Given the description of an element on the screen output the (x, y) to click on. 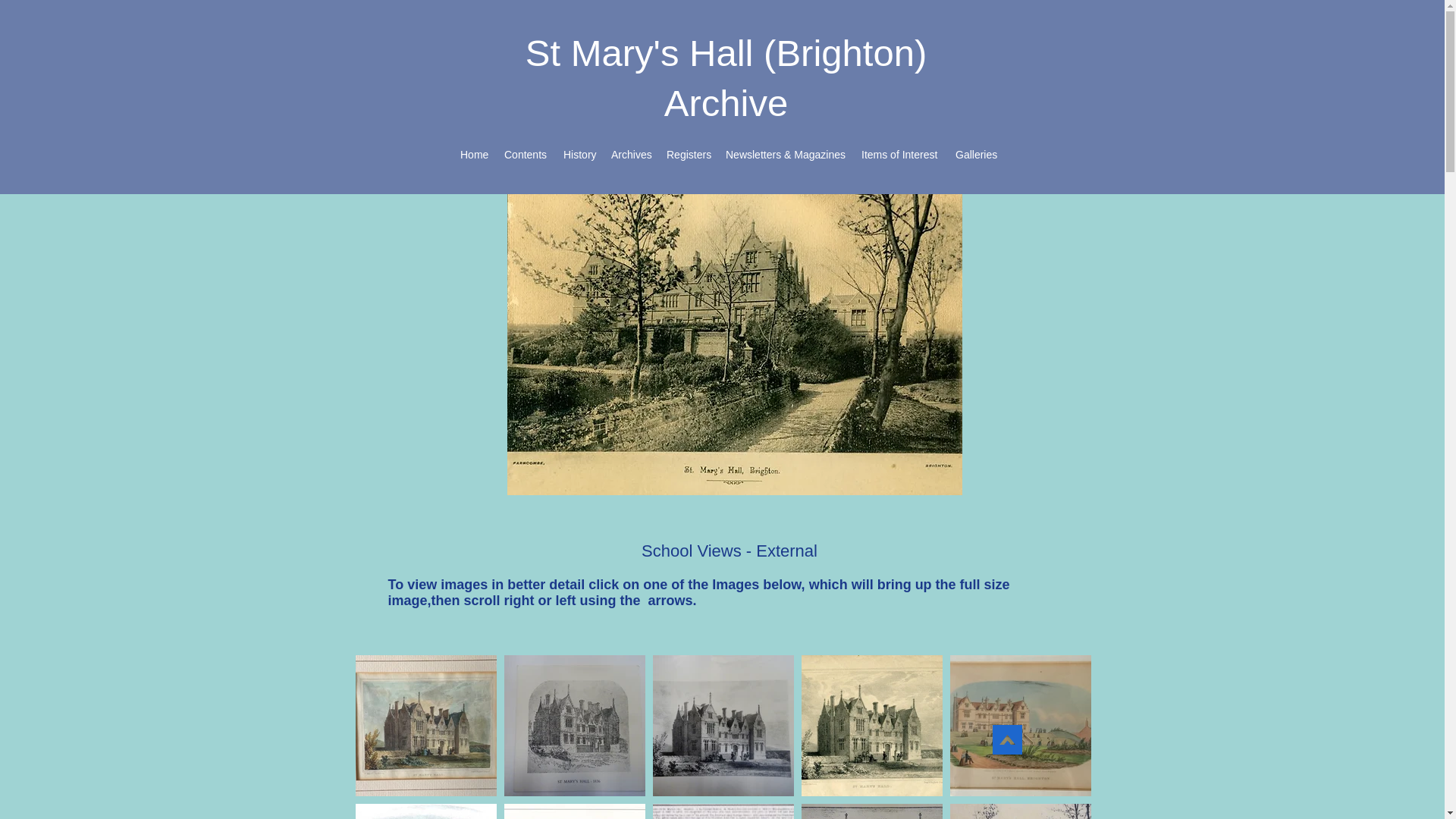
Registers (688, 154)
Archive (725, 102)
Contents (526, 154)
Archives (631, 154)
Galleries (975, 154)
Home (474, 154)
Items of Interest (900, 154)
History (580, 154)
